Given the description of an element on the screen output the (x, y) to click on. 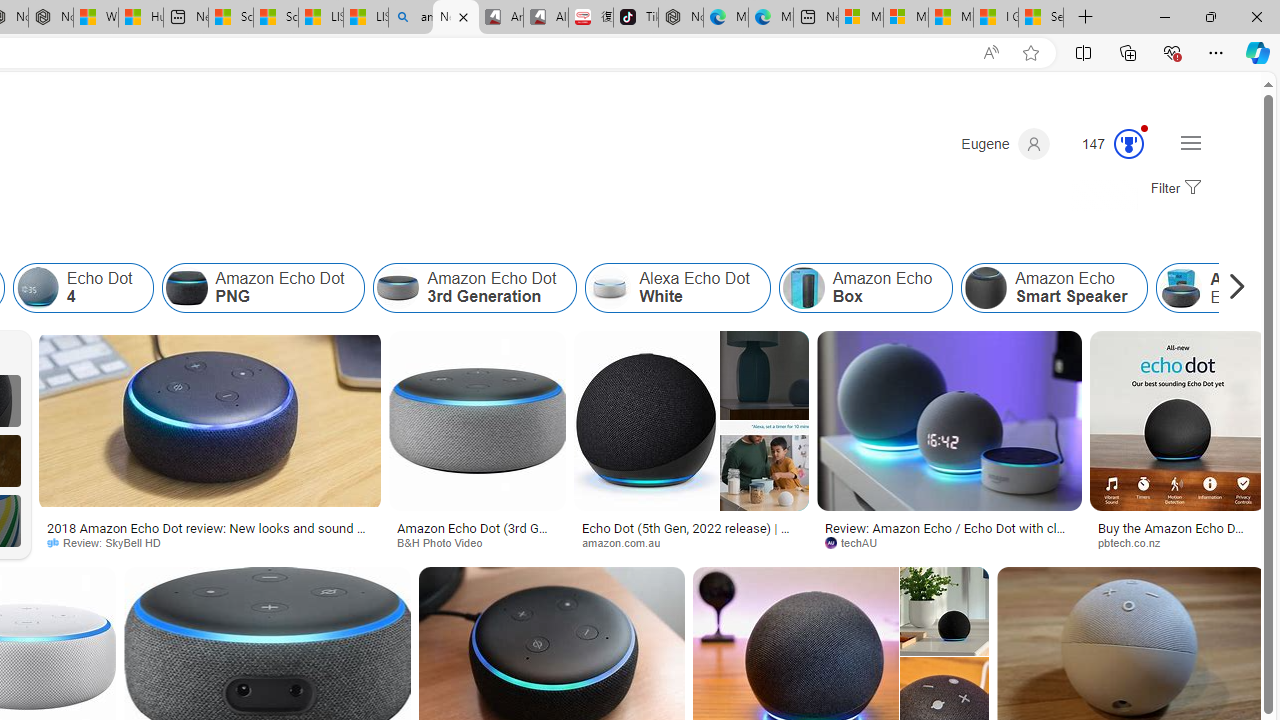
Alexa Echo Dot White (678, 287)
Eugene (1005, 143)
Alexa Echo Dot White (610, 287)
Image result for Newest Amazon Echo Dot (1177, 421)
Amazon Echo Smart Speaker (986, 287)
amazon.com.au (628, 541)
Settings and quick links (1190, 142)
Amazon Echo Dot PNG (186, 287)
